Given the description of an element on the screen output the (x, y) to click on. 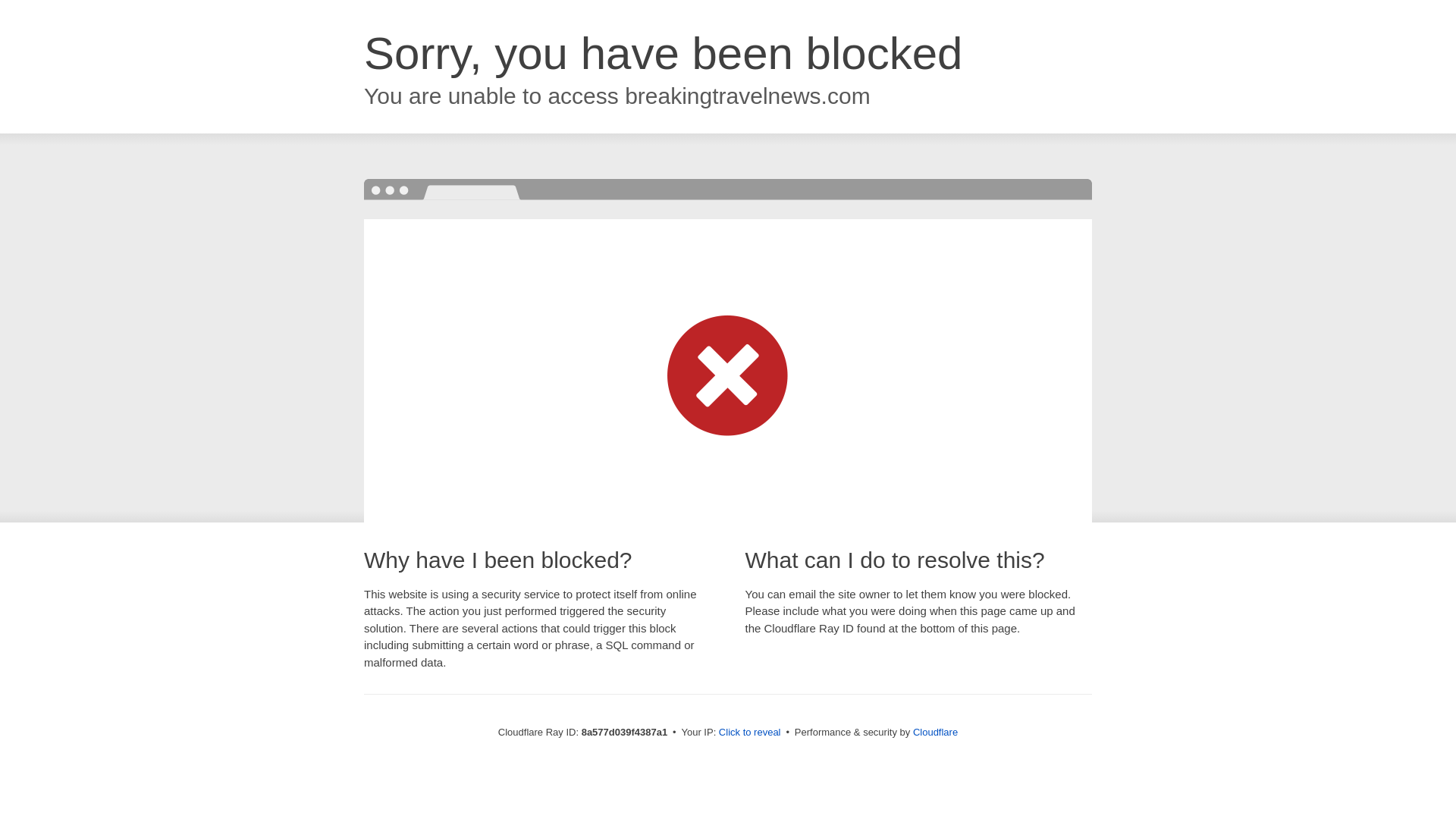
Cloudflare (935, 731)
Click to reveal (749, 732)
